Given the description of an element on the screen output the (x, y) to click on. 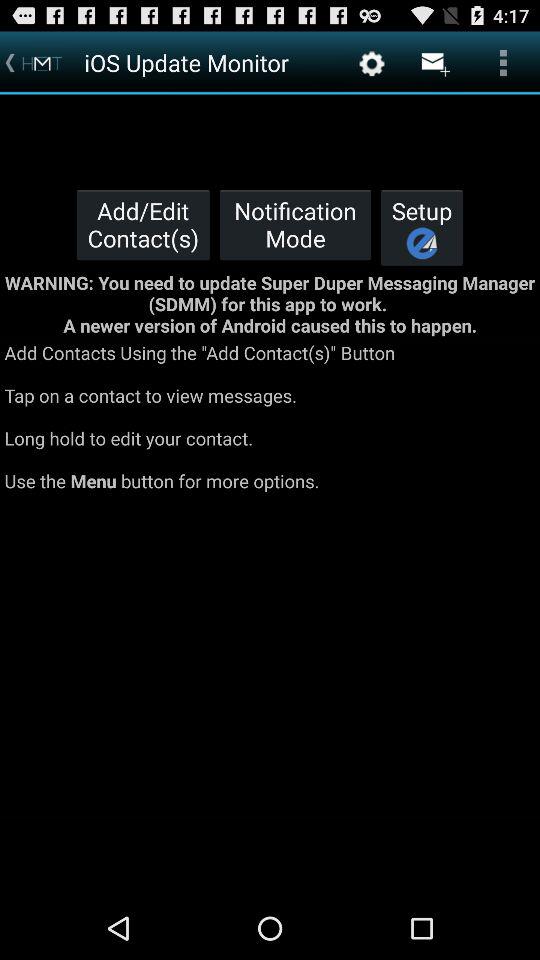
turn on button above the setup item (434, 62)
